Given the description of an element on the screen output the (x, y) to click on. 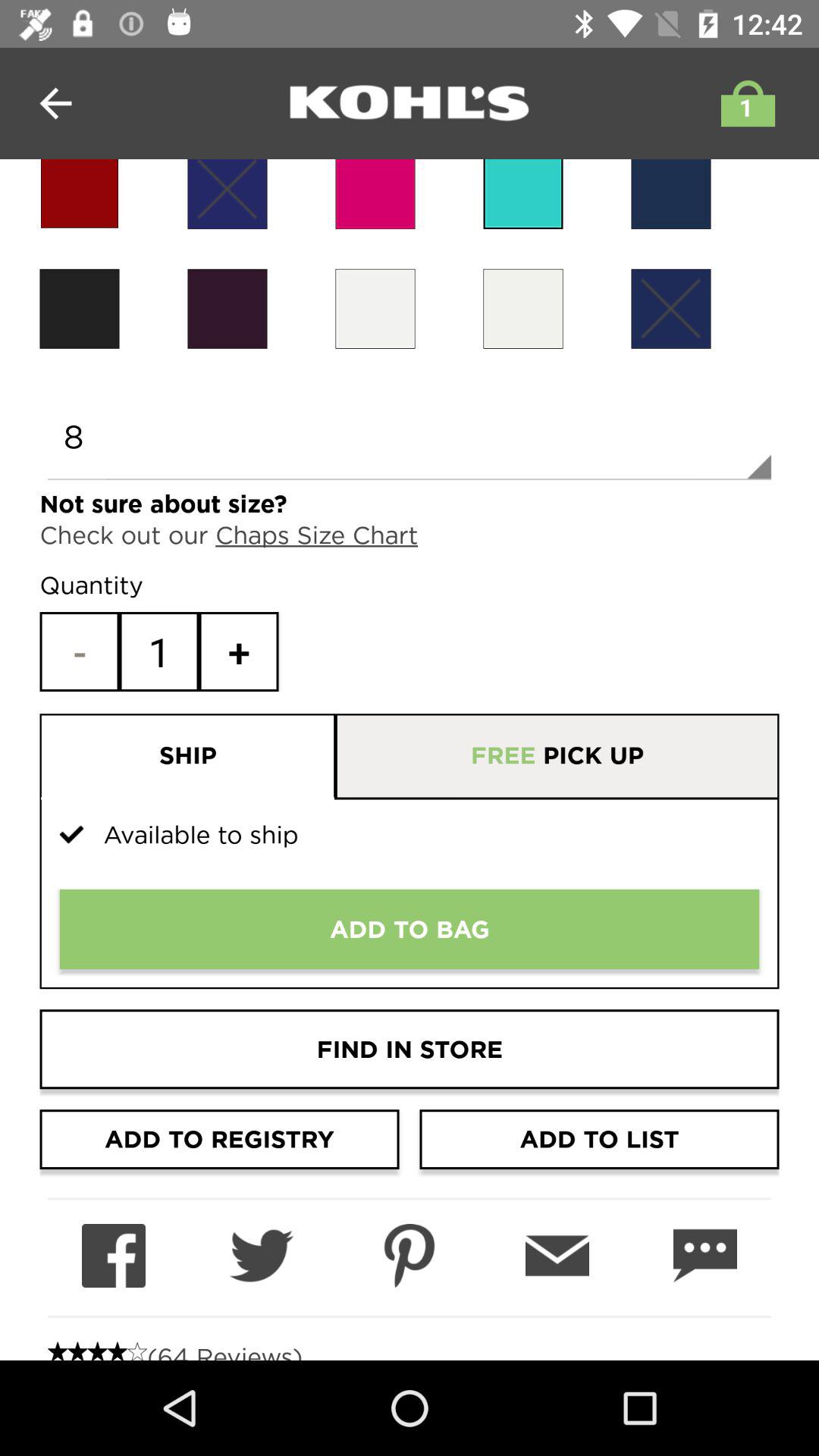
share the item via email (557, 1255)
